Given the description of an element on the screen output the (x, y) to click on. 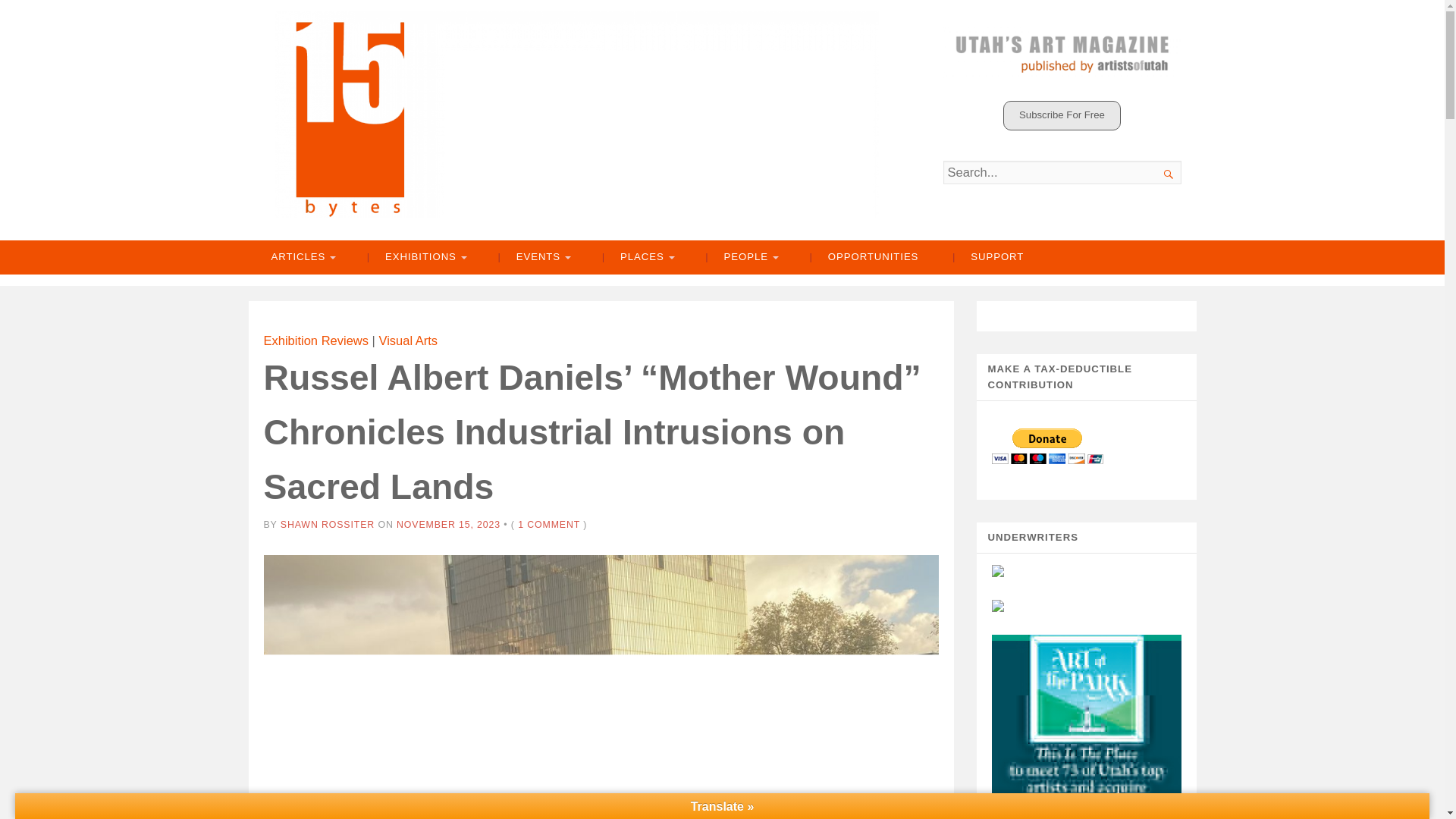
PayPal - The safer, easier way to pay online! (1047, 446)
View all posts by Shawn Rossiter (327, 524)
Visual Arts (408, 340)
NOVEMBER 15, 2023 (448, 524)
ARTICLES (302, 257)
PLACES (636, 257)
OPPORTUNITIES (864, 257)
PEOPLE (740, 257)
SUPPORT (988, 257)
3:10 pm (448, 524)
EVENTS (532, 257)
EXHIBITIONS (415, 257)
1 COMMENT (548, 524)
SHAWN ROSSITER (327, 524)
Subscribe For Free (1062, 114)
